Given the description of an element on the screen output the (x, y) to click on. 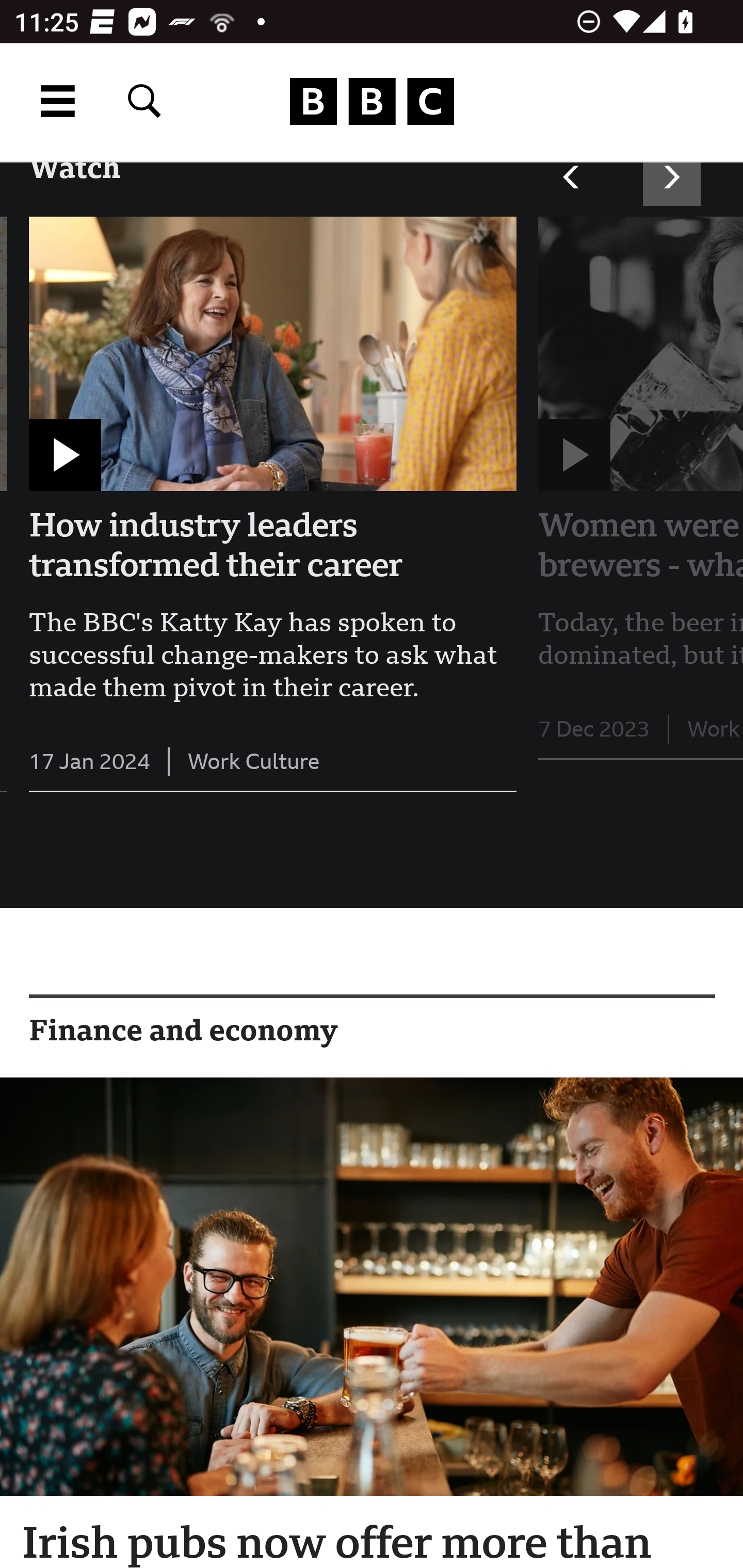
www.bbc (371, 101)
